Given the description of an element on the screen output the (x, y) to click on. 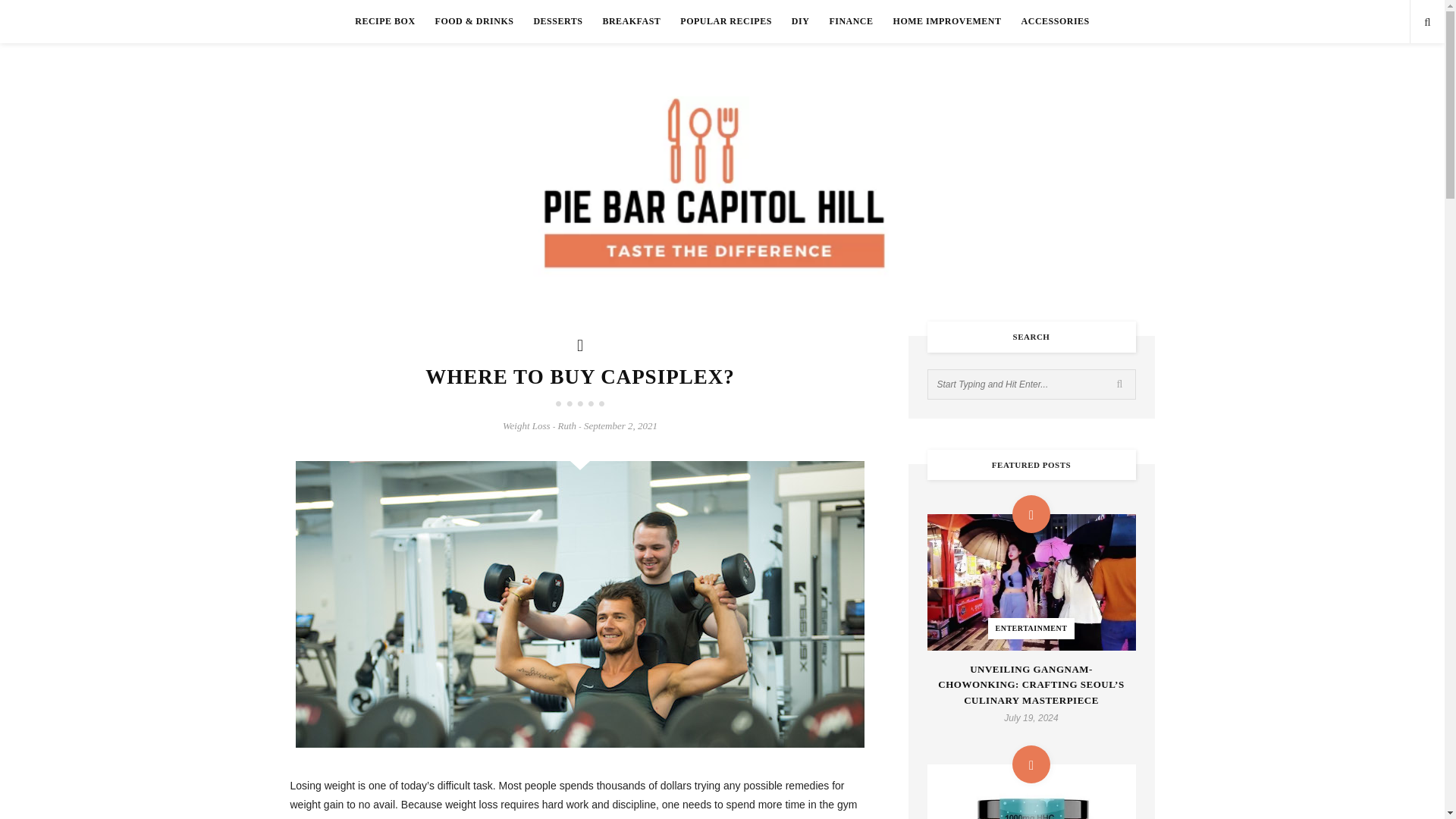
Weight Loss (526, 425)
ENTERTAINMENT (1030, 582)
ACCESSORIES (1055, 21)
CBD (1030, 791)
Permanent Link: Exploring The Potential Of HHC Gummies (1030, 791)
POPULAR RECIPES (725, 21)
DESSERTS (557, 21)
HOME IMPROVEMENT (947, 21)
FINANCE (850, 21)
RECIPE BOX (385, 21)
BREAKFAST (630, 21)
